Given the description of an element on the screen output the (x, y) to click on. 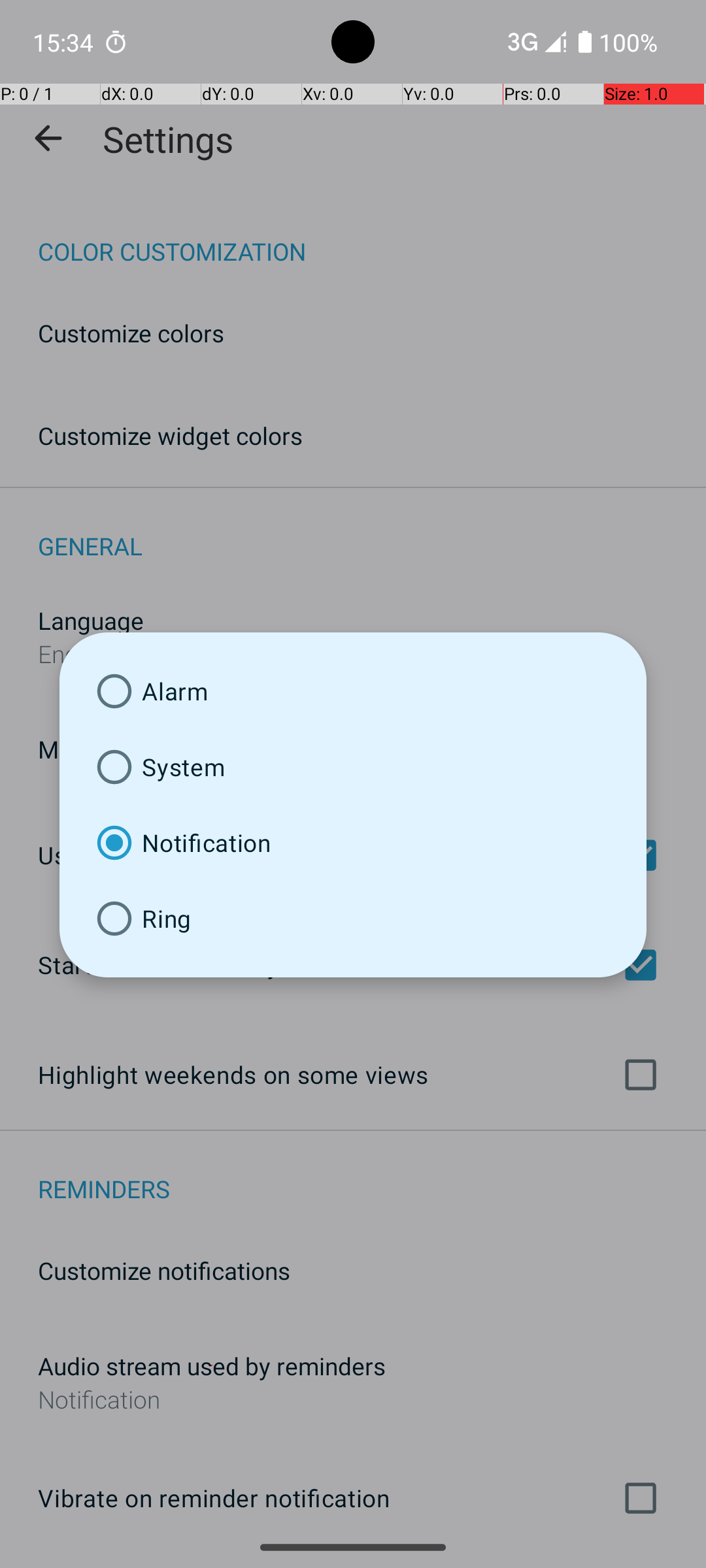
Ring Element type: android.widget.RadioButton (352, 918)
